Given the description of an element on the screen output the (x, y) to click on. 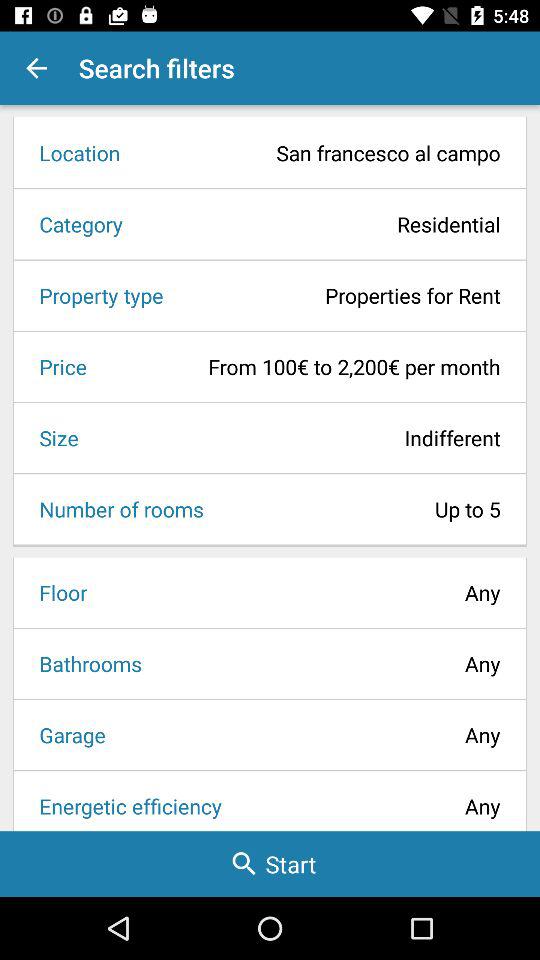
launch icon to the left of any item (84, 663)
